Given the description of an element on the screen output the (x, y) to click on. 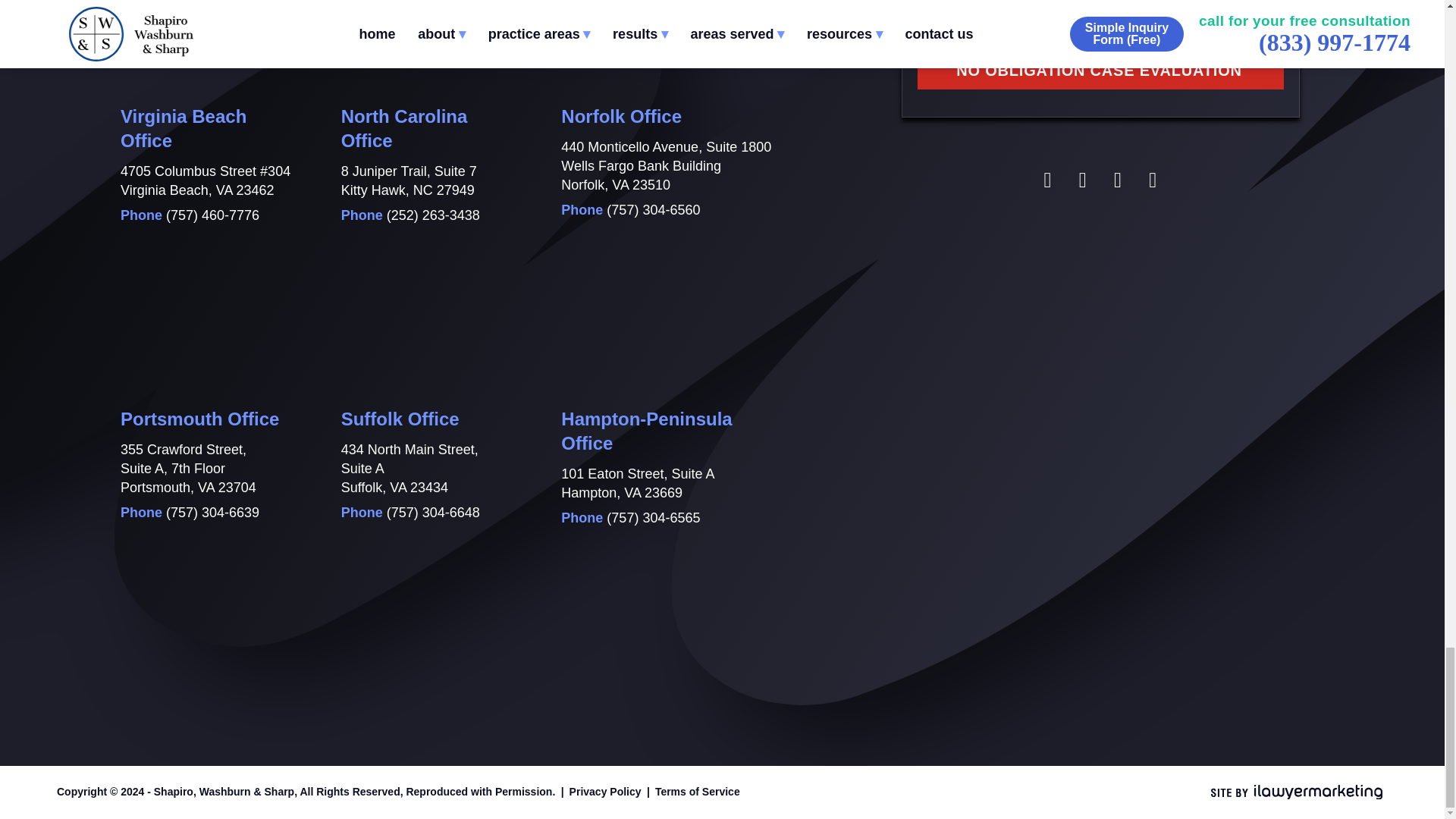
Phone (433, 215)
Phone (653, 517)
Phone (212, 512)
Phone (653, 209)
Phone (433, 512)
Local (191, 19)
Fax (411, 19)
Phone (212, 215)
